Given the description of an element on the screen output the (x, y) to click on. 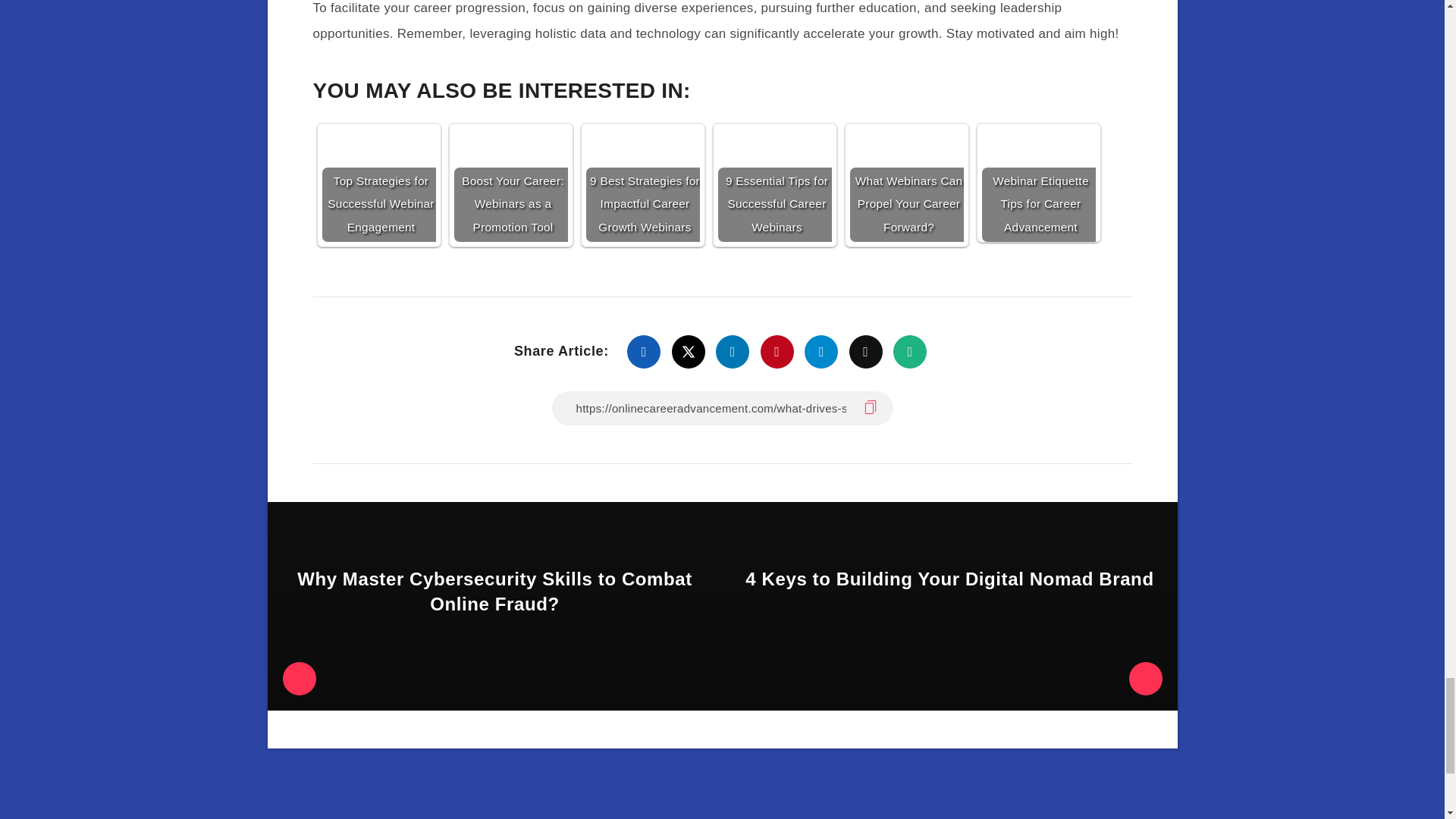
What Webinars Can Propel Your Career Forward? (905, 184)
Webinar Etiquette Tips for Career Advancement (1037, 184)
Boost Your Career: Webinars as a Promotion Tool (509, 184)
9 Essential Tips for Successful Career Webinars (774, 184)
Top Strategies for Successful Webinar Engagement (378, 184)
9 Best Strategies for Impactful Career Growth Webinars (641, 184)
